Given the description of an element on the screen output the (x, y) to click on. 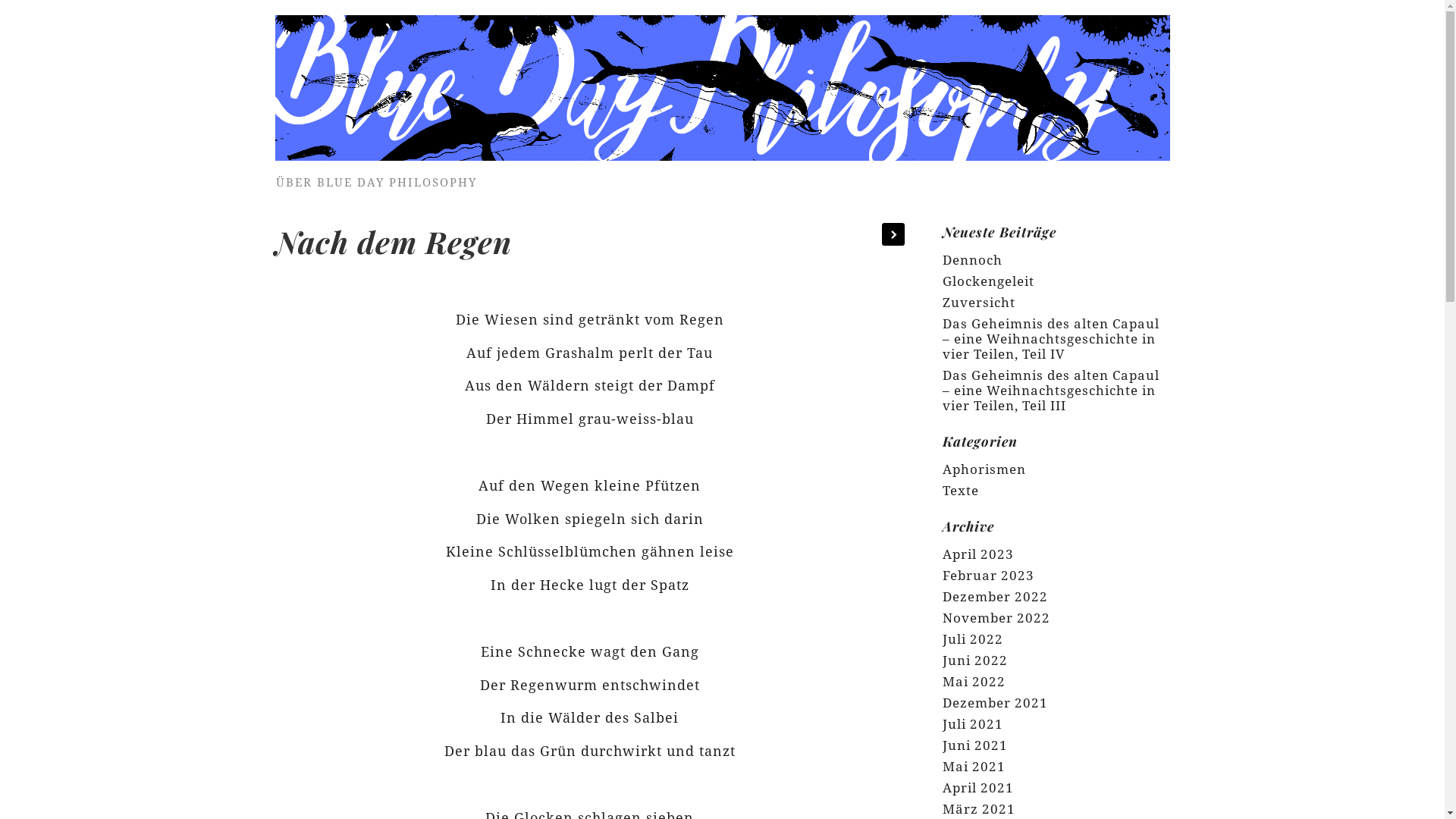
Juni 2021 Element type: text (974, 745)
Juli 2022 Element type: text (971, 638)
Mai 2021 Element type: text (972, 766)
November 2022 Element type: text (995, 617)
Dezember 2021 Element type: text (994, 702)
Texte Element type: text (959, 490)
Juli 2021 Element type: text (971, 723)
Dennoch Element type: text (971, 259)
Juni 2022 Element type: text (974, 660)
Glockengeleit Element type: text (987, 280)
Aphorismen Element type: text (983, 468)
April 2021 Element type: text (977, 787)
Zuversicht Element type: text (977, 302)
April 2023 Element type: text (977, 553)
Februar 2023 Element type: text (987, 575)
Dezember 2022 Element type: text (994, 596)
Mai 2022 Element type: text (972, 681)
